Given the description of an element on the screen output the (x, y) to click on. 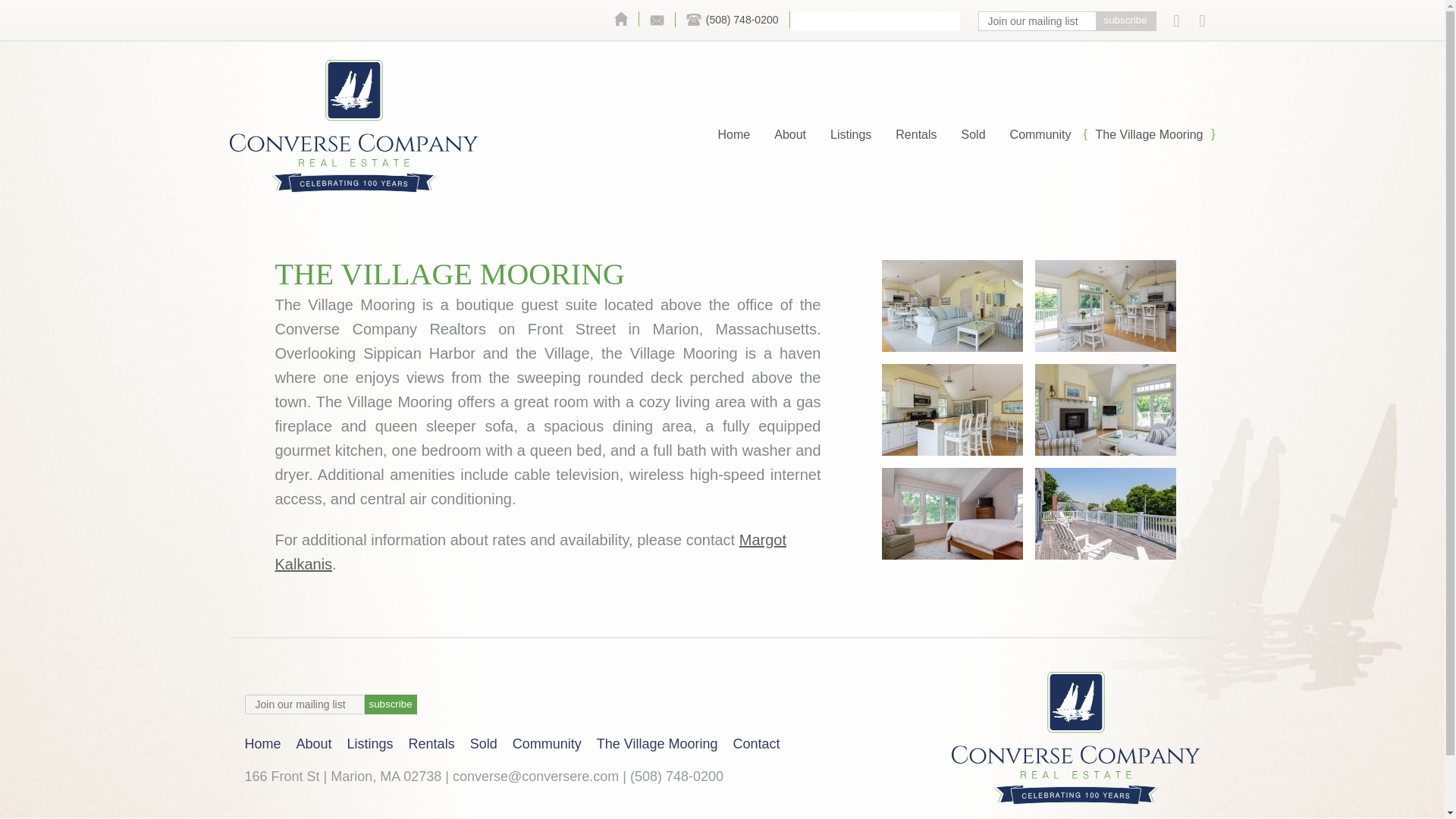
Instagram (1201, 21)
The Village Mooring (1148, 134)
The Village Mooring (657, 743)
About (789, 134)
Contact (657, 19)
Home (734, 134)
Contact (756, 743)
Community (547, 743)
Rentals (432, 743)
subscribe (1124, 21)
